Given the description of an element on the screen output the (x, y) to click on. 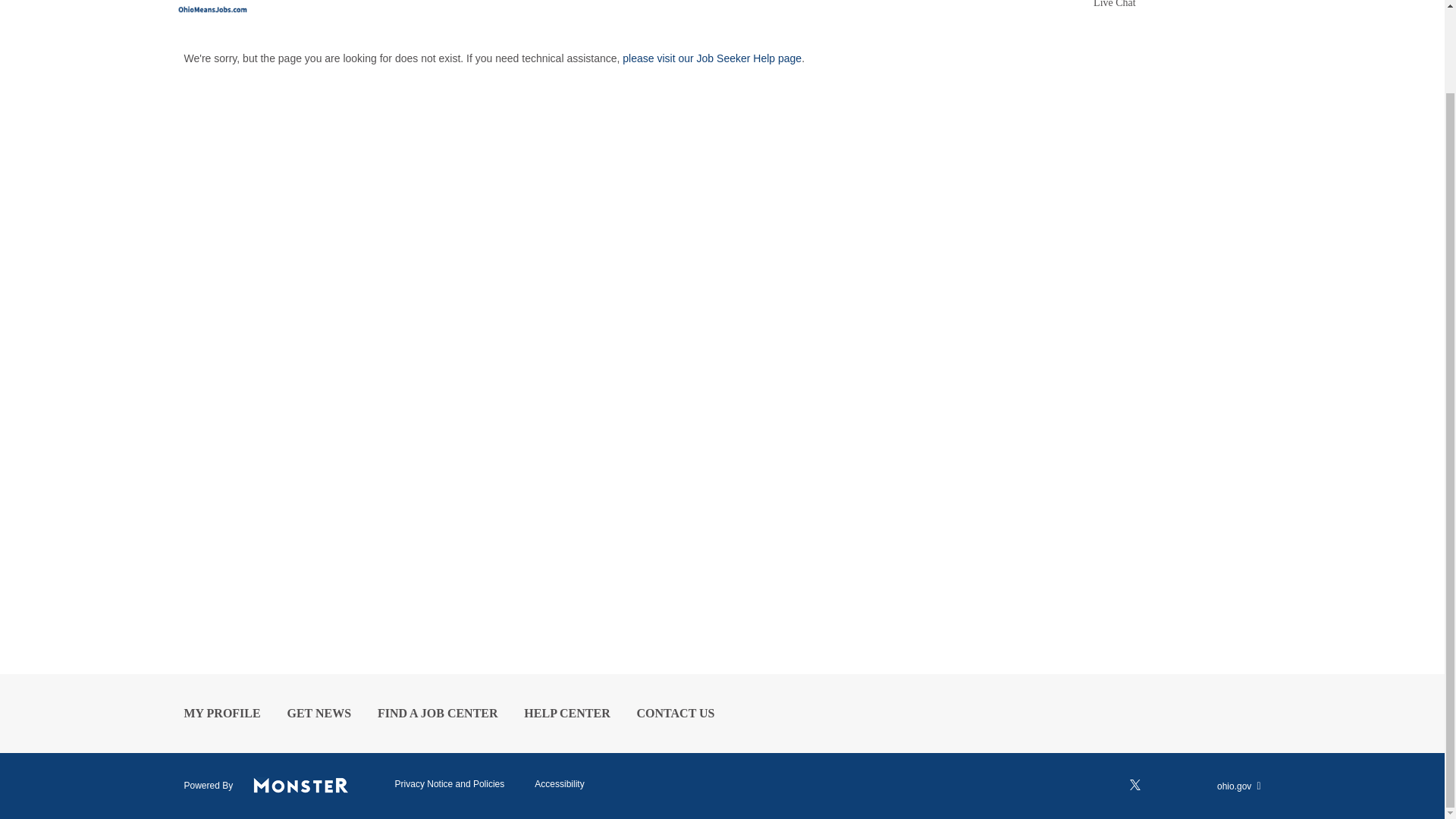
Powered By Monster (300, 784)
Contact Us (675, 712)
Live Chat (1114, 4)
Help Center (567, 712)
News (318, 712)
My Profile (221, 712)
Find a Job Center (437, 712)
Privacy Policy (449, 783)
For Job Seekers (315, 13)
